Given the description of an element on the screen output the (x, y) to click on. 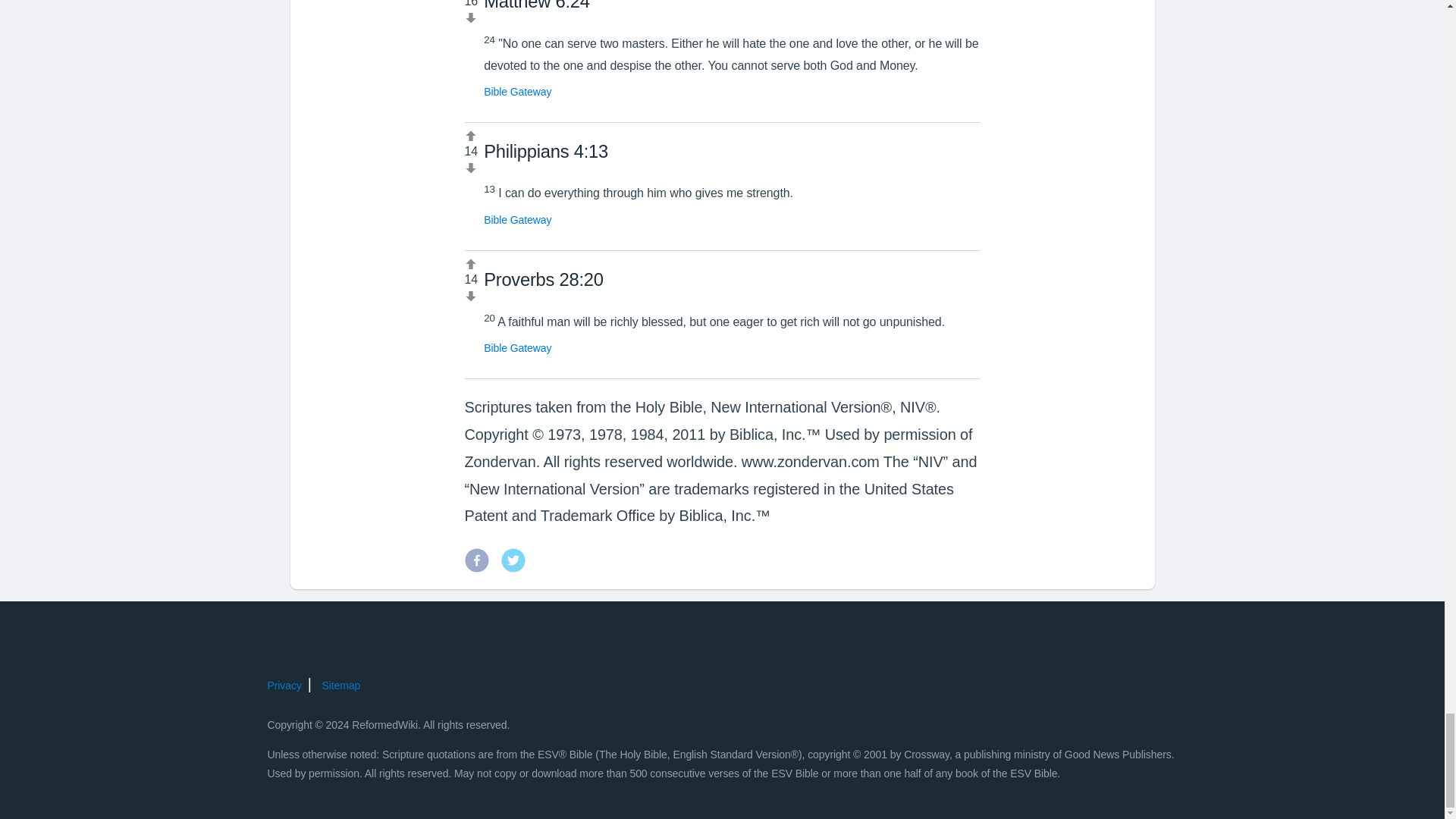
Bible Gateway (517, 347)
Bible Gateway (517, 219)
Bible Gateway (517, 91)
